Given the description of an element on the screen output the (x, y) to click on. 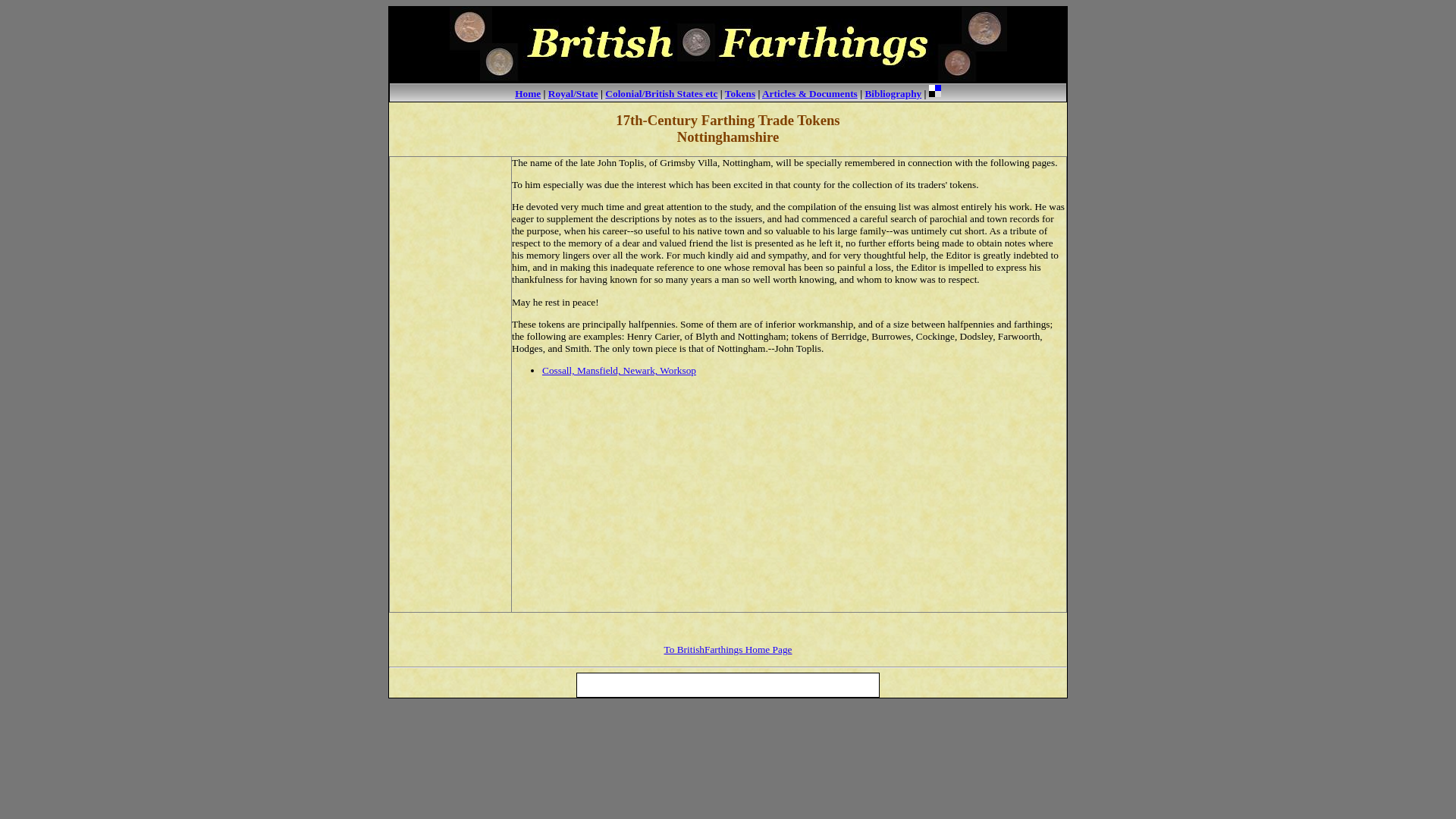
Bibliography (892, 93)
Advertisement (727, 627)
To BritishFarthings Home Page (727, 649)
Tokens (740, 93)
Cossall, Mansfield, Newark, Worksop (618, 369)
Advertisement (450, 384)
Home (527, 93)
